Given the description of an element on the screen output the (x, y) to click on. 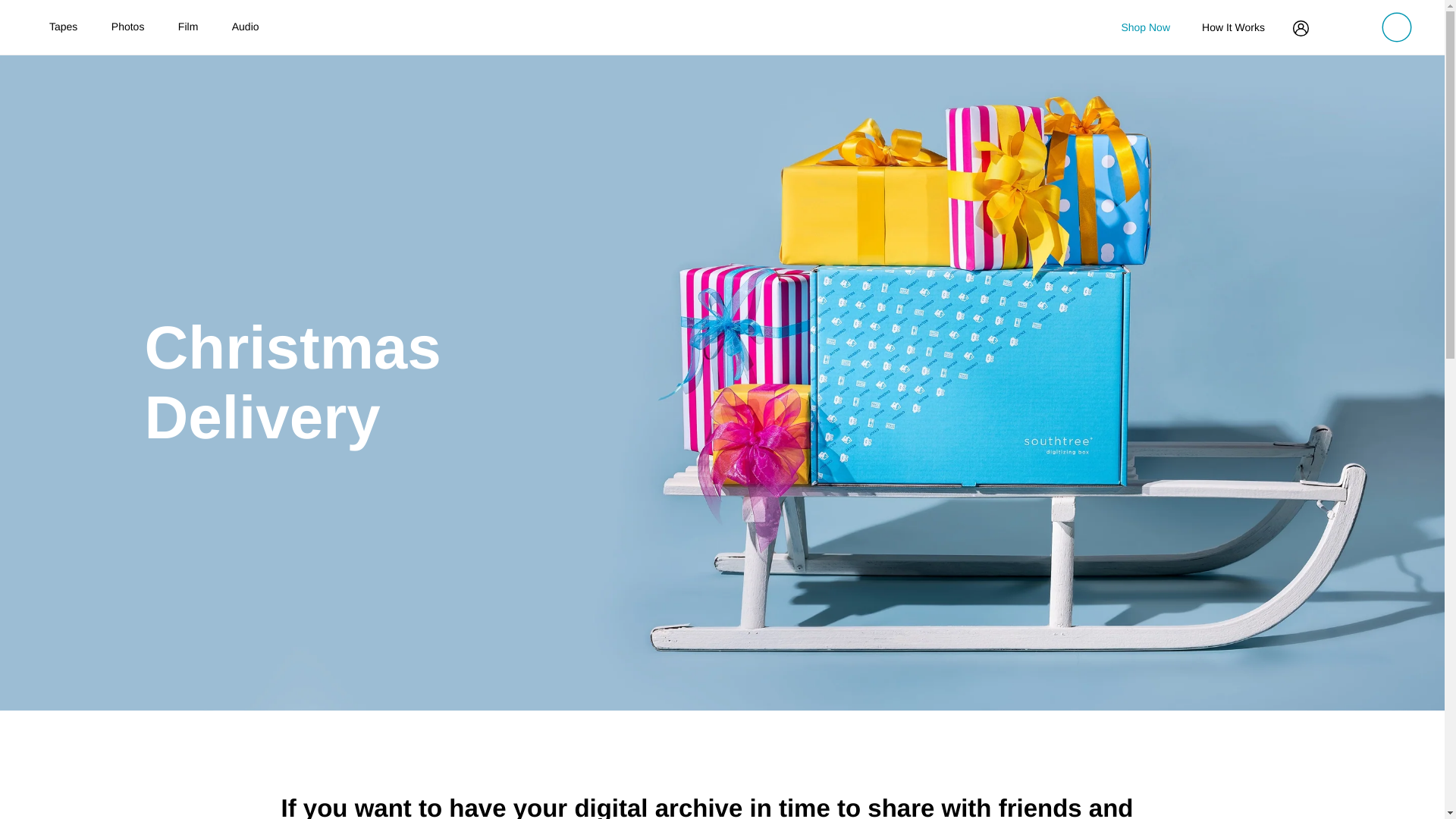
PAL to NTSC (911, 19)
Shop Now (1144, 27)
Audio (245, 30)
Photos (128, 30)
Shop Photos (493, 9)
Tapes (63, 30)
Beta (888, 2)
How It Works (1233, 27)
Film (187, 30)
